Given the description of an element on the screen output the (x, y) to click on. 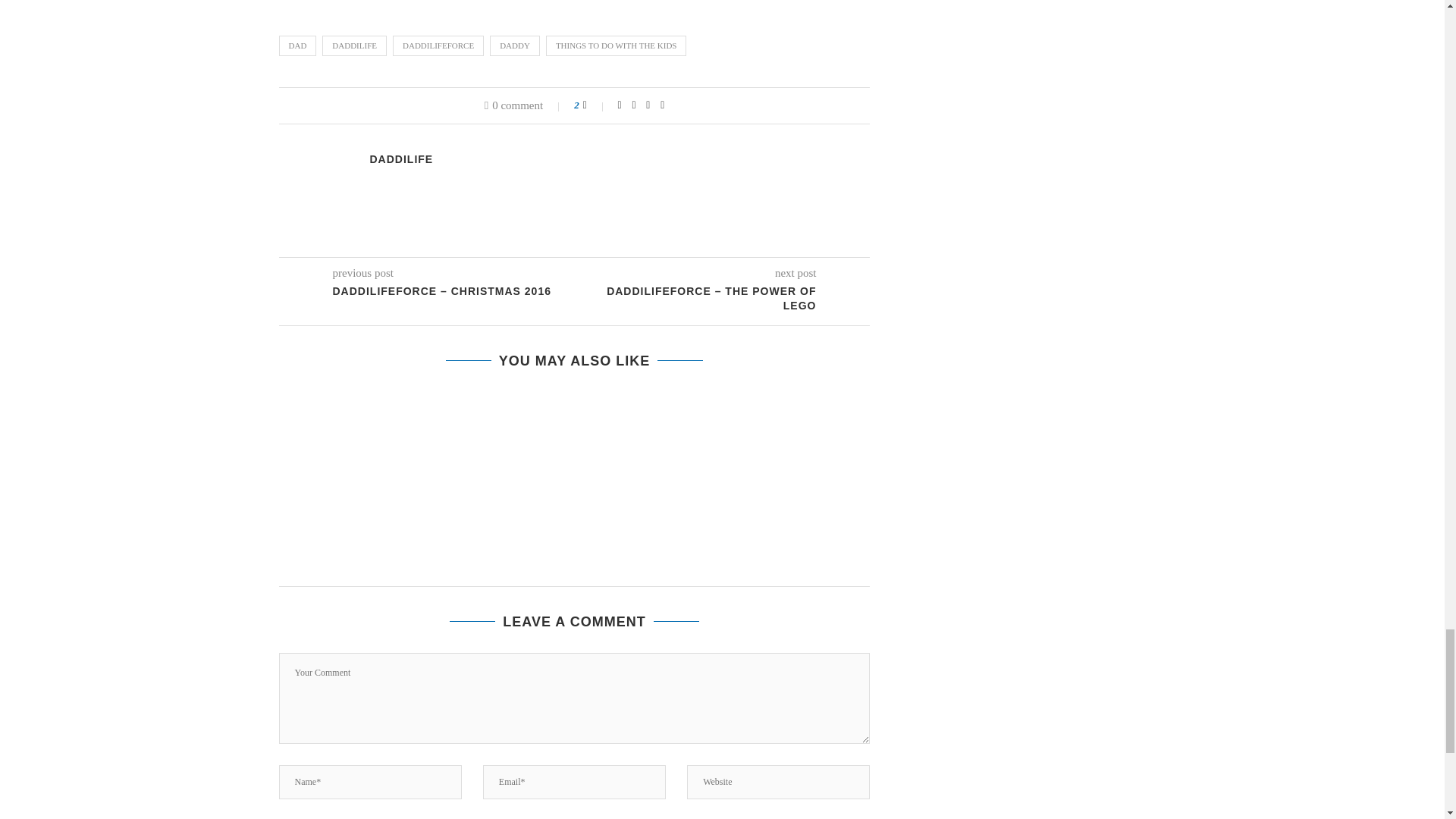
Like (595, 105)
Posts by DaddiLife (401, 159)
